Given the description of an element on the screen output the (x, y) to click on. 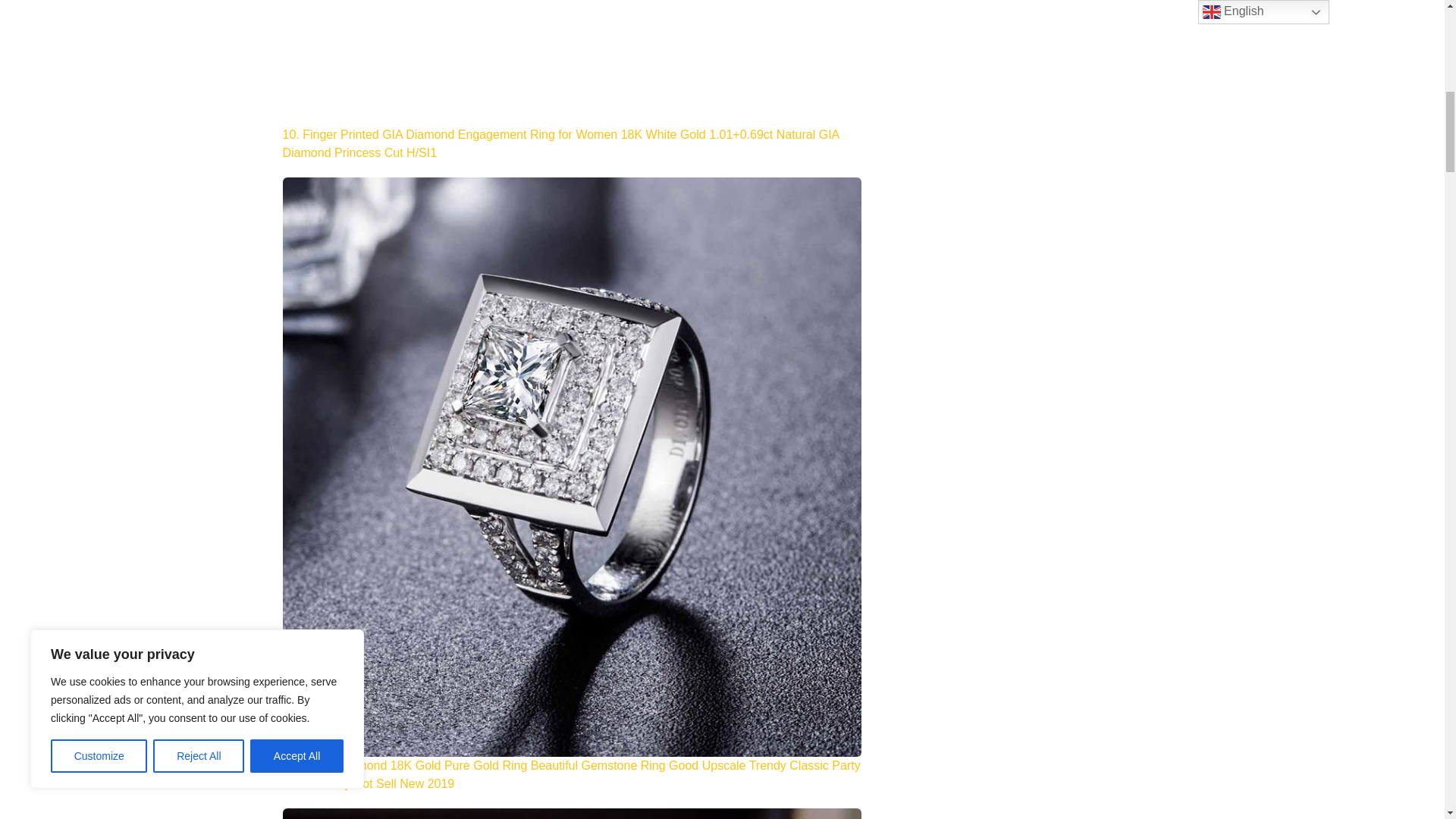
Top 10! Women's Rings on AliExpress (571, 63)
